Given the description of an element on the screen output the (x, y) to click on. 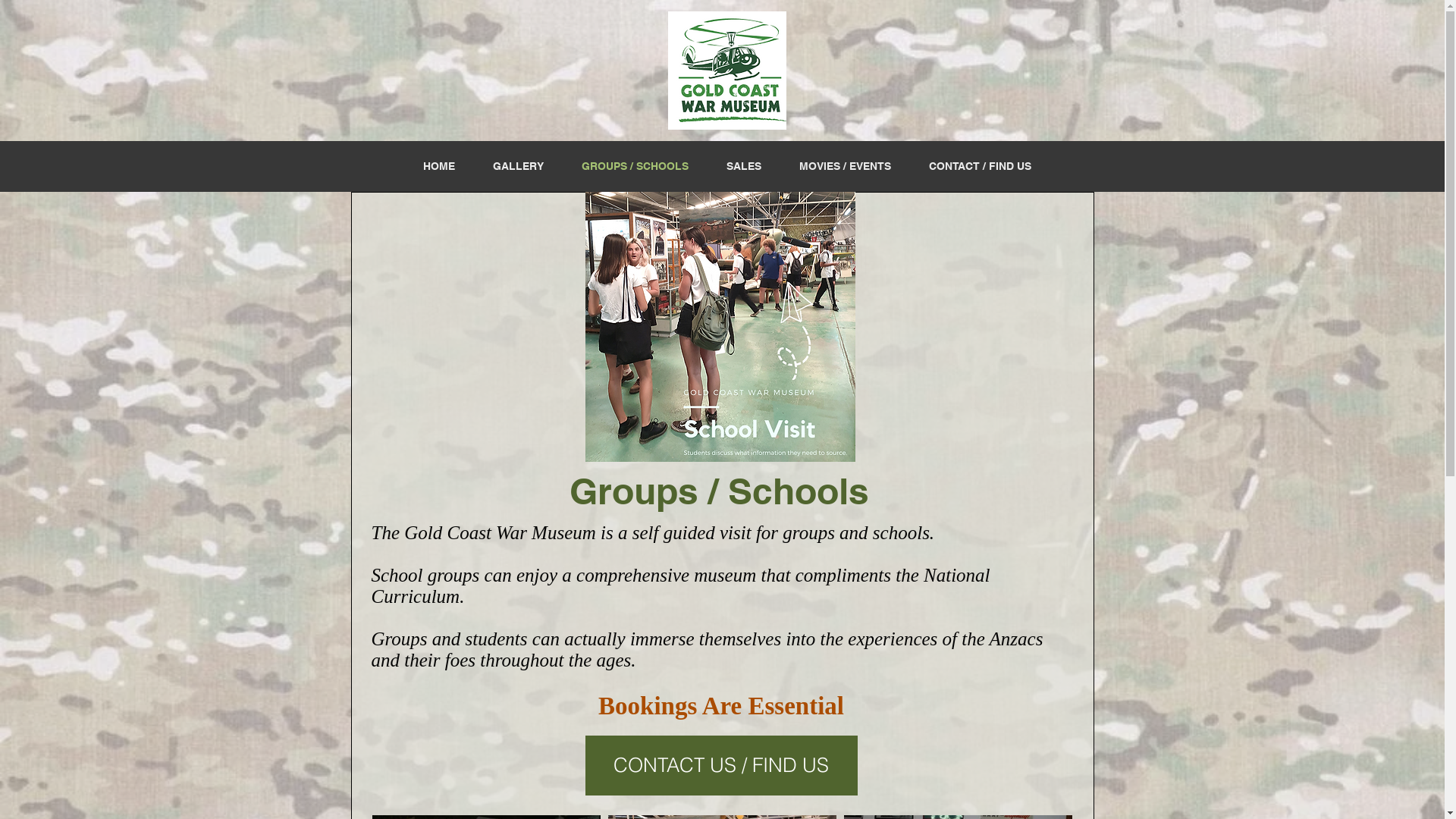
students discuss.png Element type: hover (720, 326)
CONTACT US / FIND US Element type: text (721, 765)
HOME Element type: text (438, 165)
MOVIES / EVENTS Element type: text (844, 165)
GROUPS / SCHOOLS Element type: text (634, 165)
SALES Element type: text (742, 165)
CONTACT / FIND US Element type: text (980, 165)
GALLERY Element type: text (517, 165)
